Given the description of an element on the screen output the (x, y) to click on. 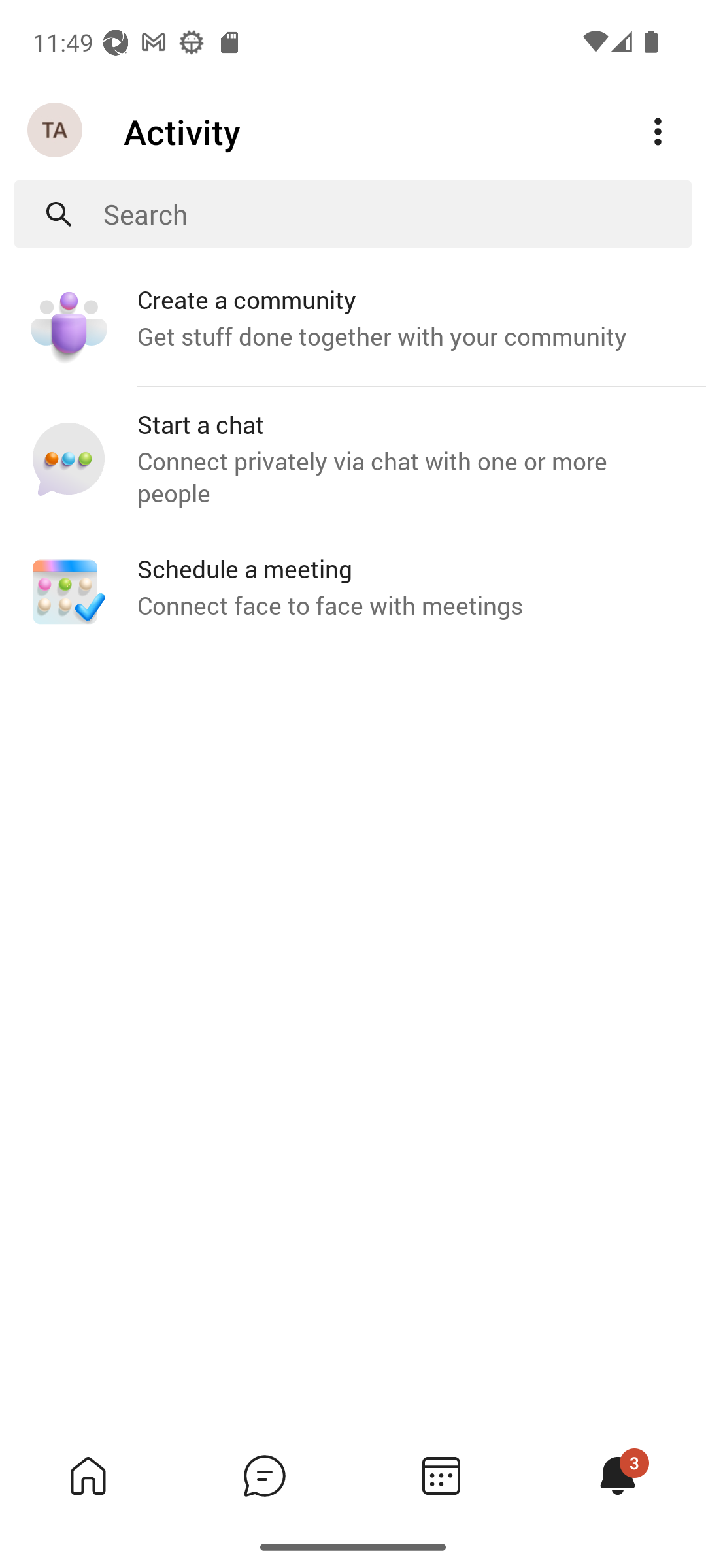
More options (657, 131)
Navigation (56, 130)
Search (397, 213)
Home tab,1 of 4, not selected (88, 1475)
Chat tab,2 of 4, not selected (264, 1475)
Calendar tab,3 of 4, not selected (441, 1475)
Activity tab, 4 of 4, 3 new 3 (617, 1475)
